Given the description of an element on the screen output the (x, y) to click on. 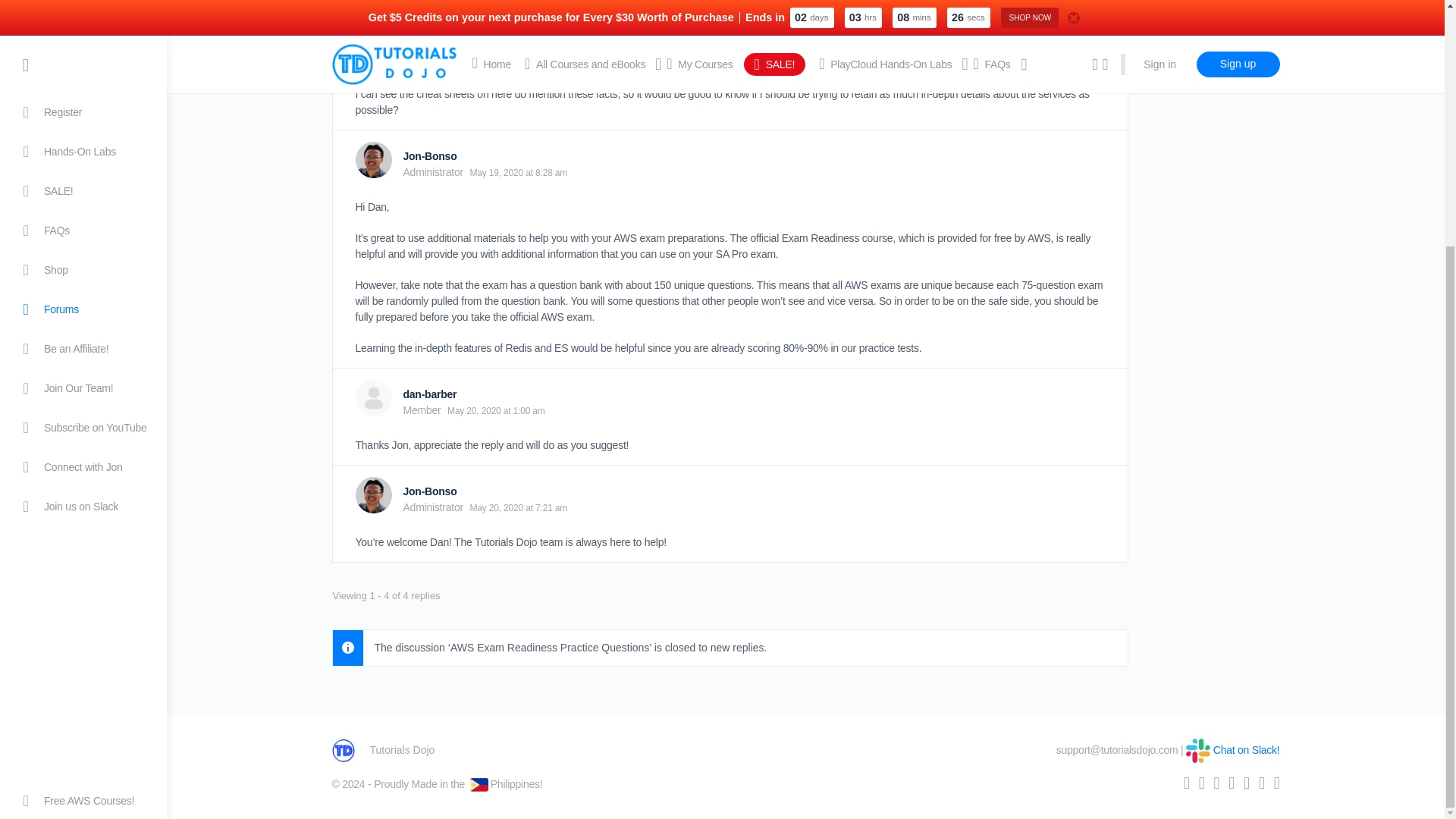
Free AWS Courses! (83, 456)
View Jon-Bonso's profile (430, 491)
Join us on Slack (83, 162)
Connect with Jon (83, 123)
Subscribe on YouTube (83, 84)
View dan-barber's profile (430, 394)
Be an Affiliate! (83, 12)
Join Our Team! (83, 44)
View Jon-Bonso's profile (430, 155)
